Given the description of an element on the screen output the (x, y) to click on. 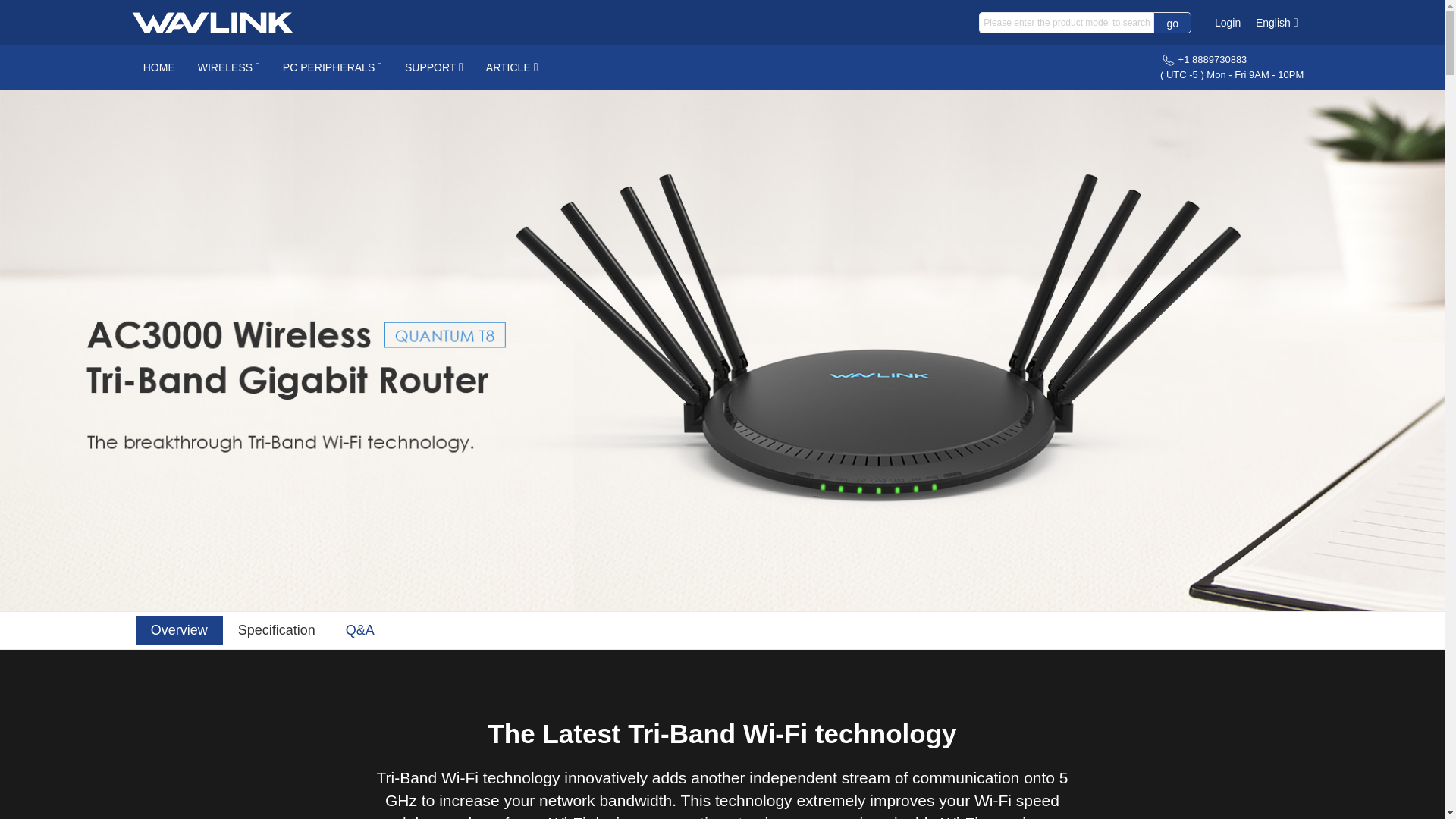
WIRELESS (228, 67)
go (1172, 22)
HOME (159, 67)
English (1276, 22)
go (1172, 22)
Login (1227, 22)
